Given the description of an element on the screen output the (x, y) to click on. 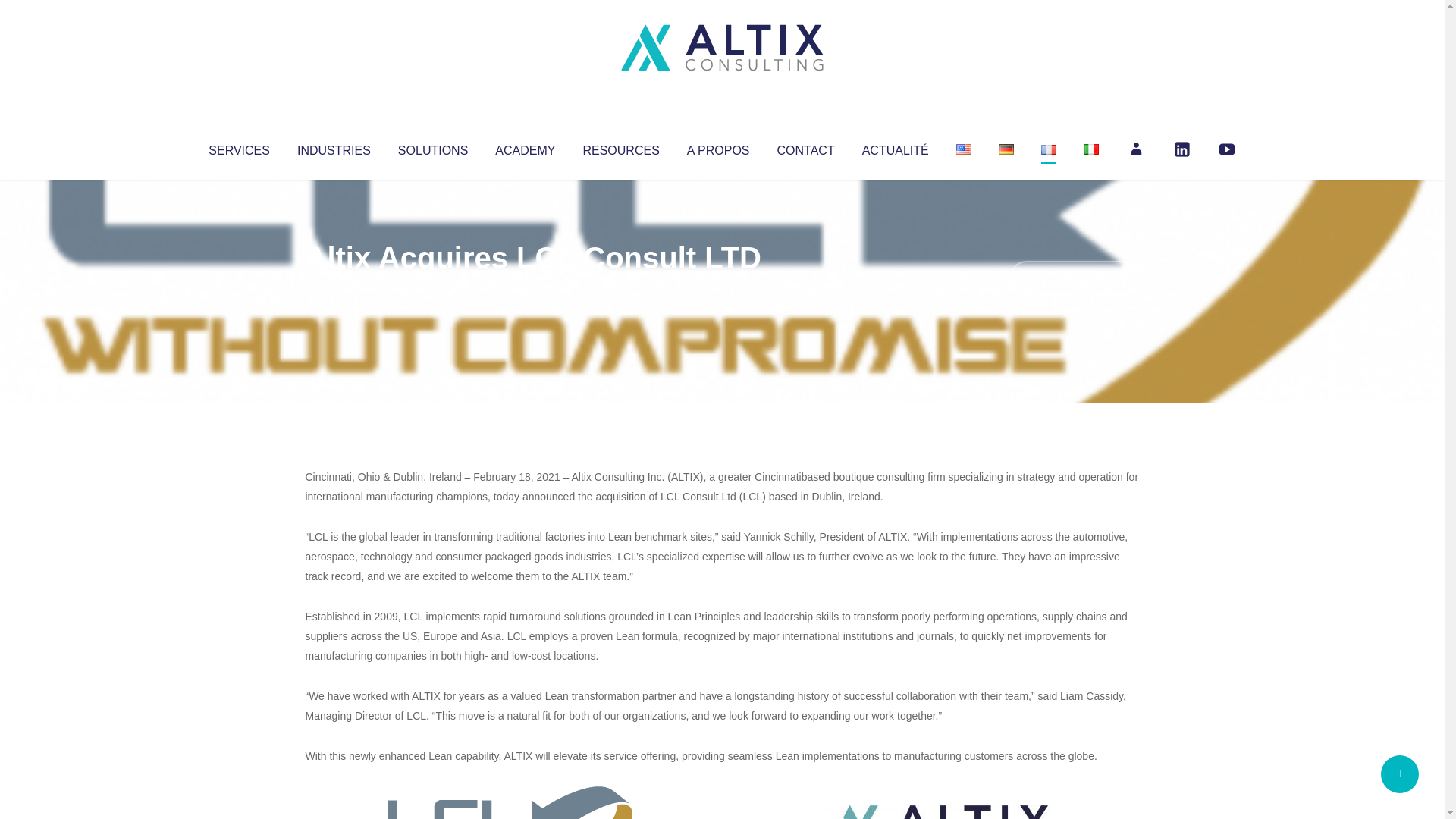
No Comments (1073, 278)
SERVICES (238, 146)
Articles par Altix (333, 287)
INDUSTRIES (334, 146)
Uncategorized (530, 287)
Altix (333, 287)
ACADEMY (524, 146)
SOLUTIONS (432, 146)
RESOURCES (620, 146)
A PROPOS (718, 146)
